Given the description of an element on the screen output the (x, y) to click on. 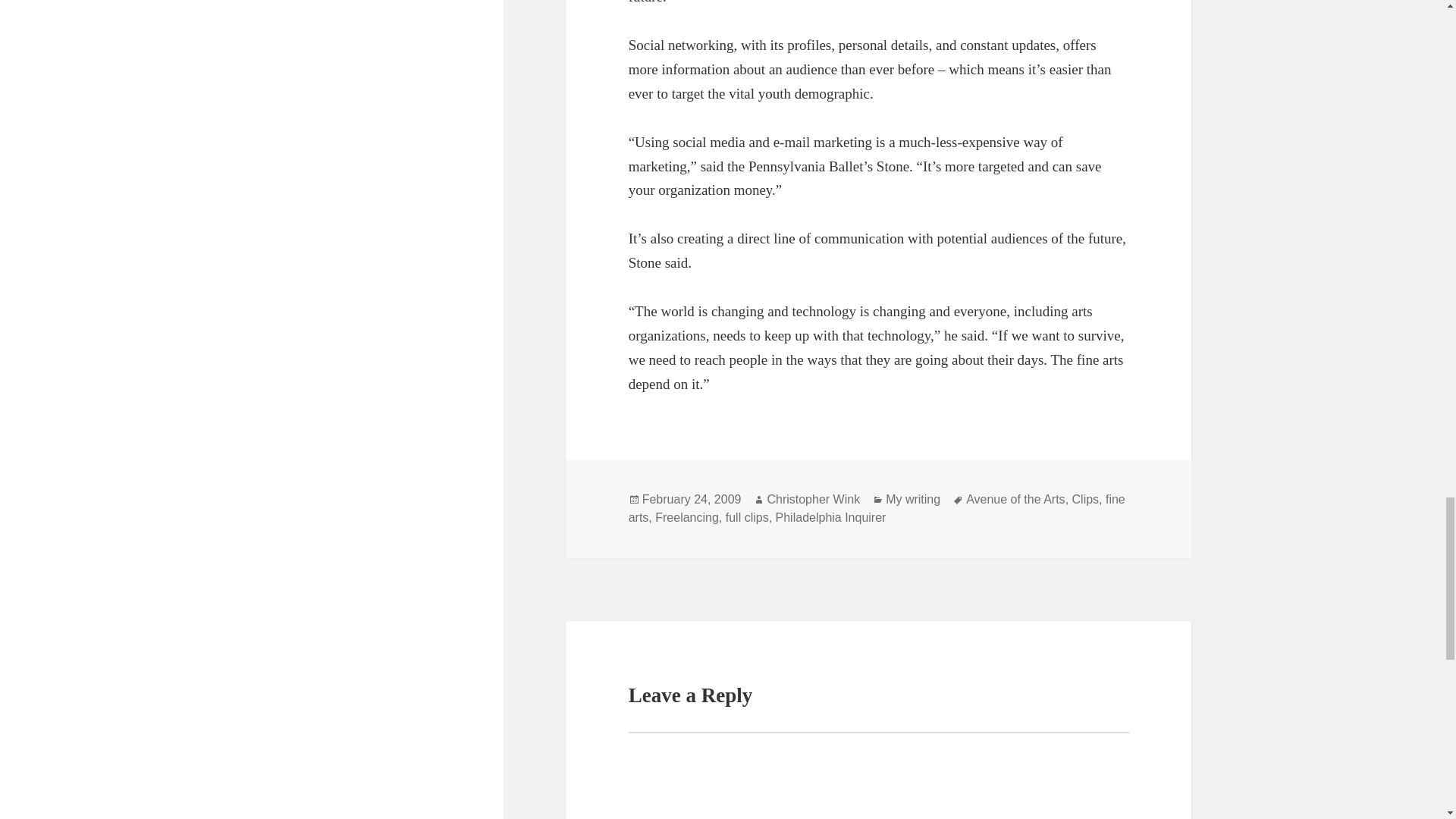
Comment Form (878, 775)
February 24, 2009 (691, 499)
Philadelphia Inquirer (831, 517)
My writing (912, 499)
Avenue of the Arts (1015, 499)
full clips (746, 517)
fine arts (876, 508)
Clips (1085, 499)
Christopher Wink (813, 499)
Freelancing (687, 517)
